Given the description of an element on the screen output the (x, y) to click on. 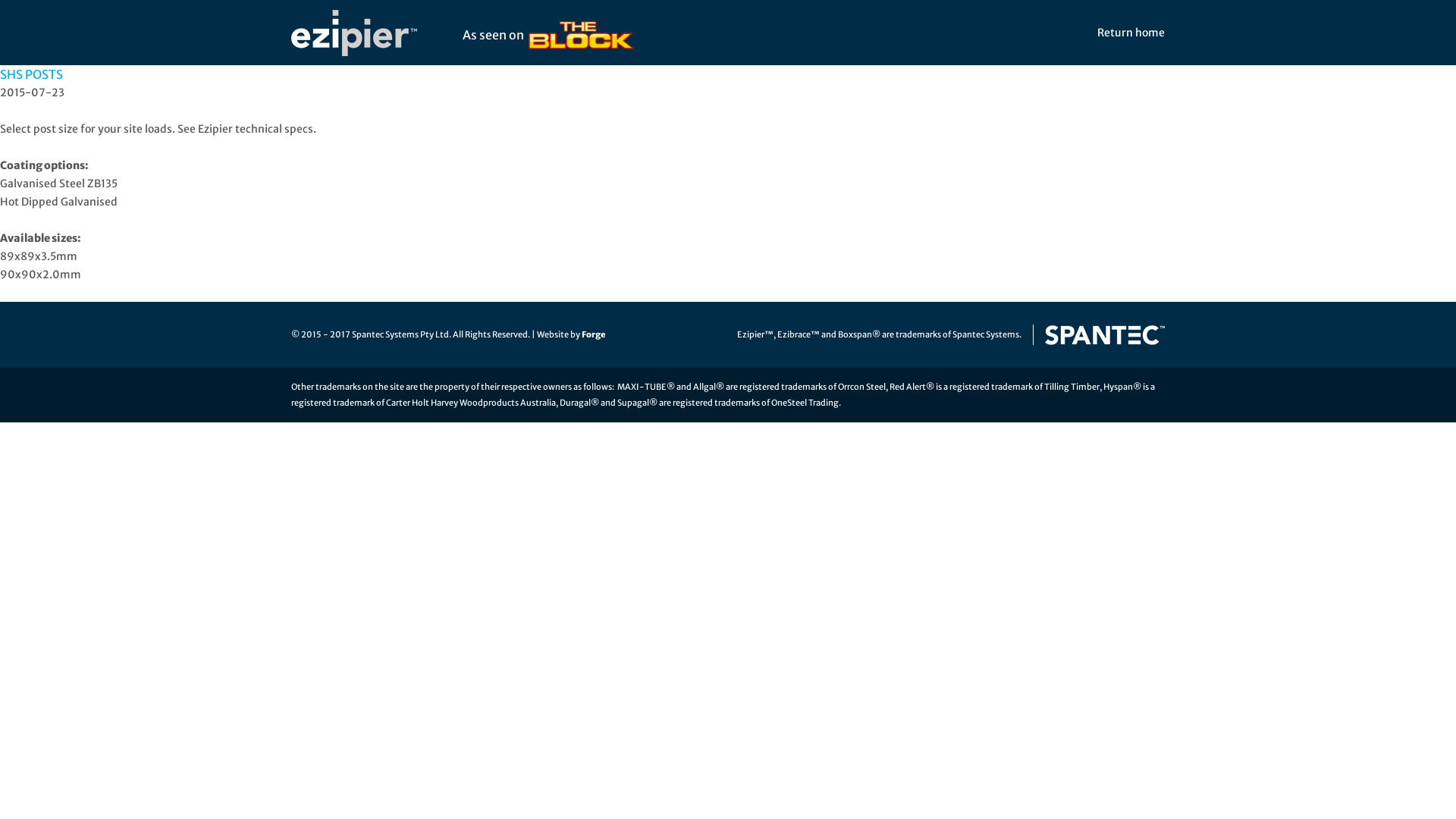
SHS POSTS Element type: text (31, 73)
Forge Element type: text (593, 334)
Return home Element type: text (1128, 32)
